Given the description of an element on the screen output the (x, y) to click on. 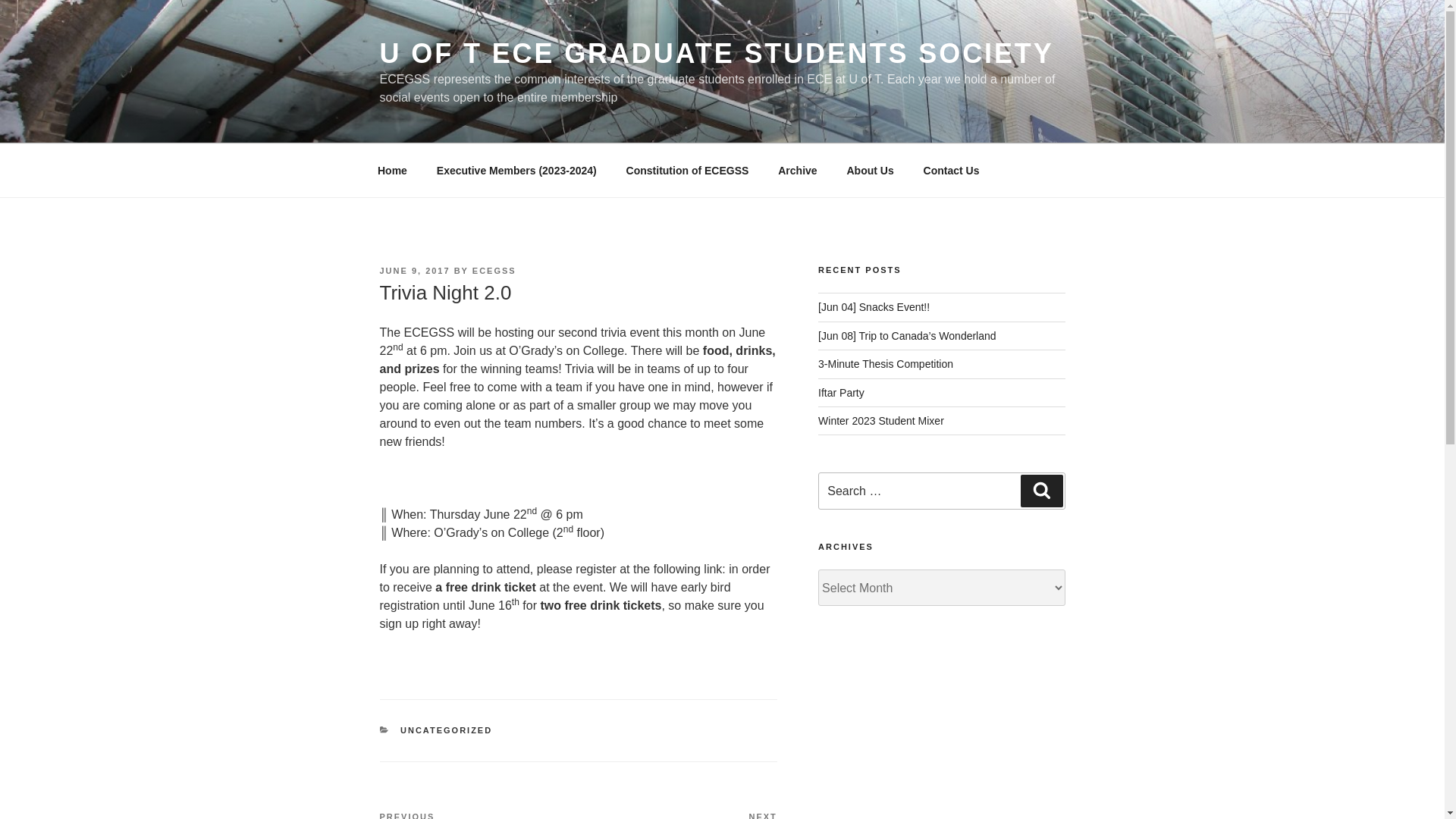
ECEGSS (493, 270)
Archive (797, 170)
3-Minute Thesis Competition (885, 363)
JUNE 9, 2017 (413, 270)
U OF T ECE GRADUATE STUDENTS SOCIETY (677, 814)
Search (715, 52)
Home (1041, 490)
Winter 2023 Student Mixer (392, 170)
About Us (880, 420)
Iftar Party (869, 170)
Contact Us (841, 392)
UNCATEGORIZED (951, 170)
Constitution of ECEGSS (446, 729)
